Given the description of an element on the screen output the (x, y) to click on. 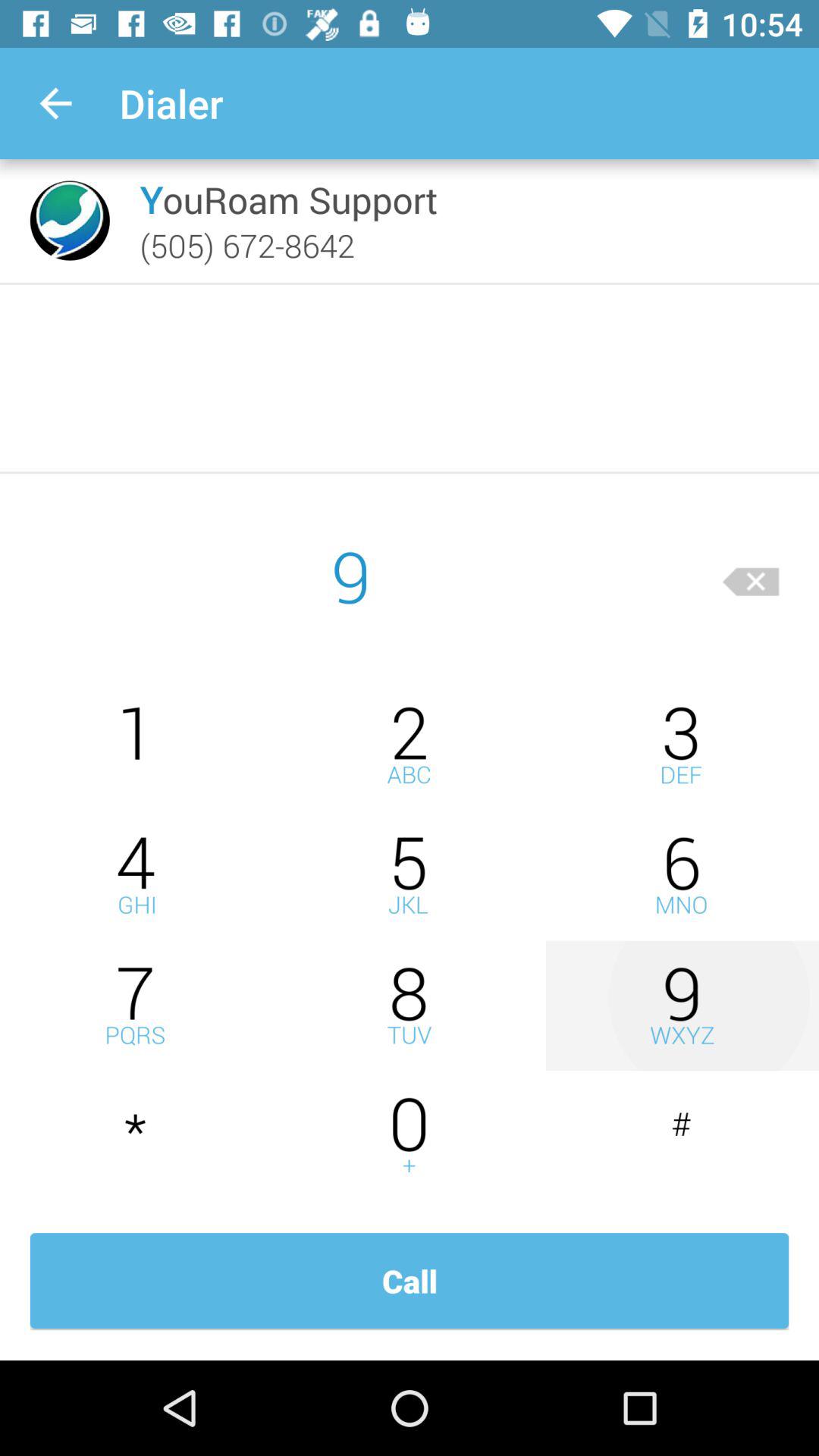
dail 7 (136, 1005)
